Given the description of an element on the screen output the (x, y) to click on. 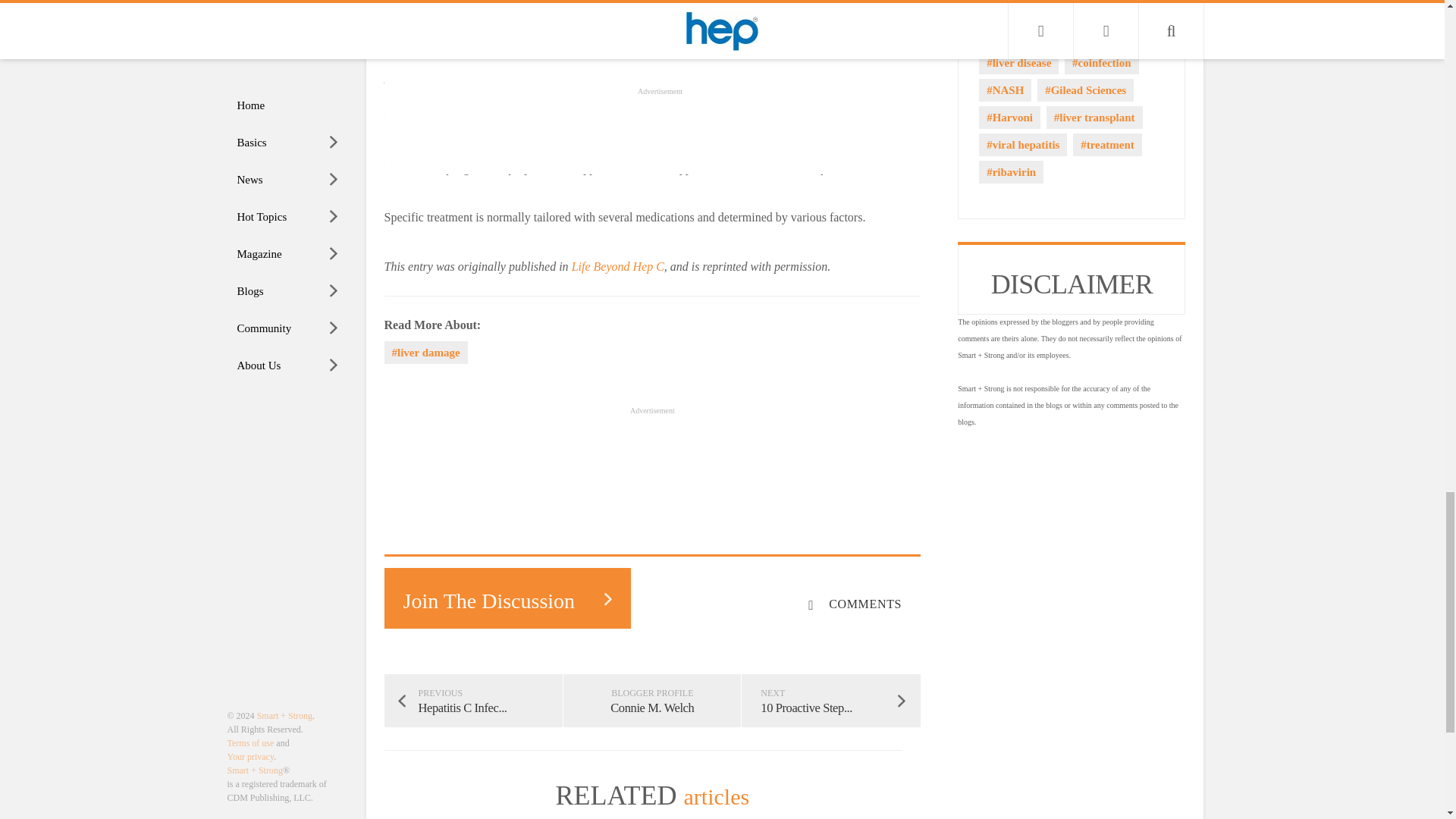
3rd party ad content (660, 451)
